Given the description of an element on the screen output the (x, y) to click on. 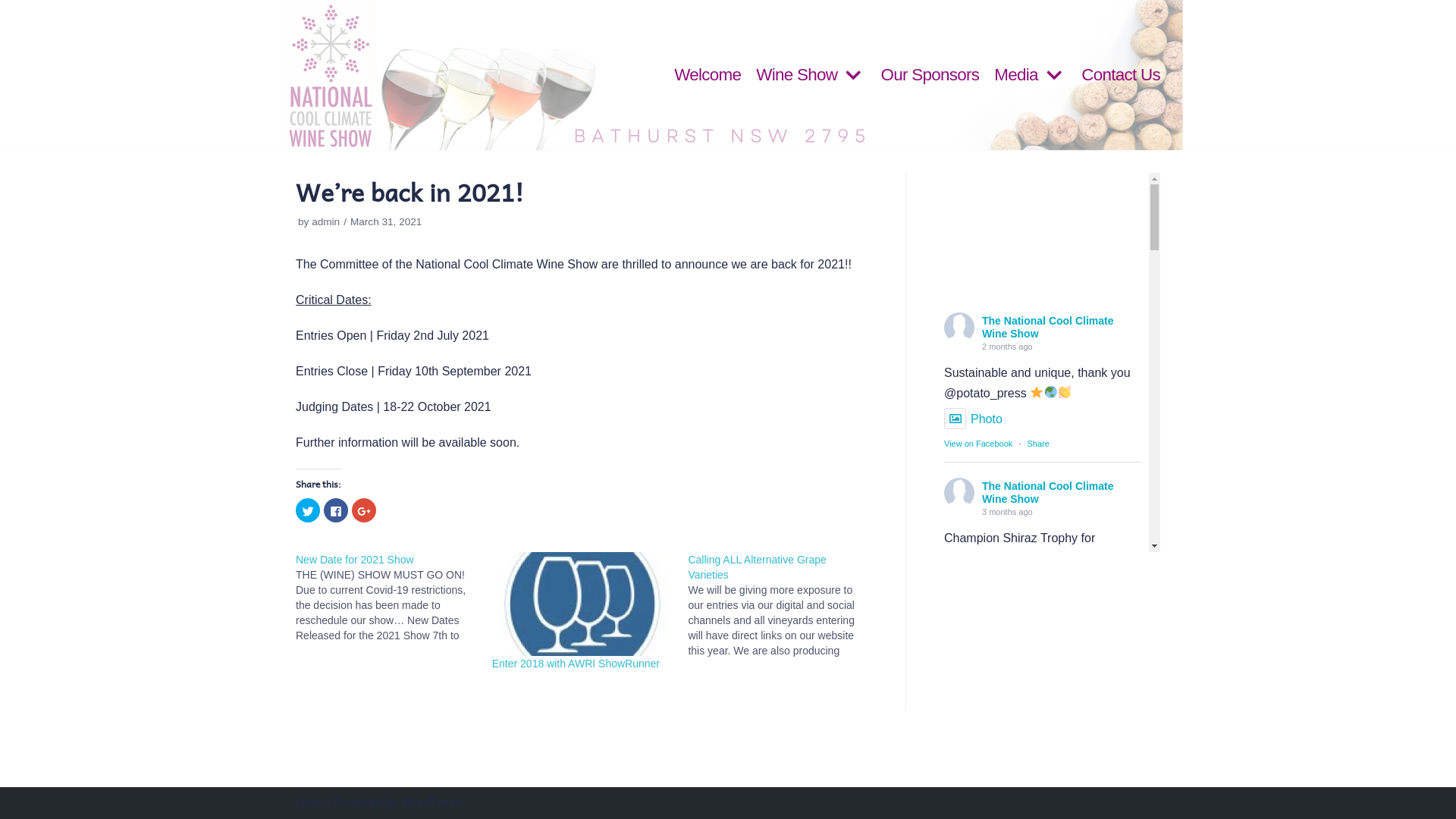
admin Element type: text (325, 221)
Photo Element type: text (973, 418)
The National Cool Climate Wine Show Element type: text (1047, 492)
Media Element type: text (1030, 74)
Share Element type: text (1037, 443)
The National Cool Climate Wine Show Element type: text (1047, 326)
Contact Us Element type: text (1120, 74)
Enter 2018 with AWRI ShowRunner Element type: text (575, 663)
Welcome Element type: text (707, 74)
Click to share on Twitter (Opens in new window) Element type: text (307, 510)
mercerwines.com.au/shop/ Element type: text (1060, 784)
Neve Element type: text (309, 802)
View on Facebook Element type: text (978, 443)
Click to share on Facebook (Opens in new window) Element type: text (335, 510)
Calling ALL Alternative Grape Varieties Element type: text (756, 566)
Wine Show Element type: text (810, 74)
Our Sponsors Element type: text (930, 74)
New Date for 2021 Show Element type: text (354, 559)
Skip to content Element type: text (15, 7)
Click to share on Google+ (Opens in new window) Element type: text (363, 510)
WordPress Element type: text (431, 802)
